Given the description of an element on the screen output the (x, y) to click on. 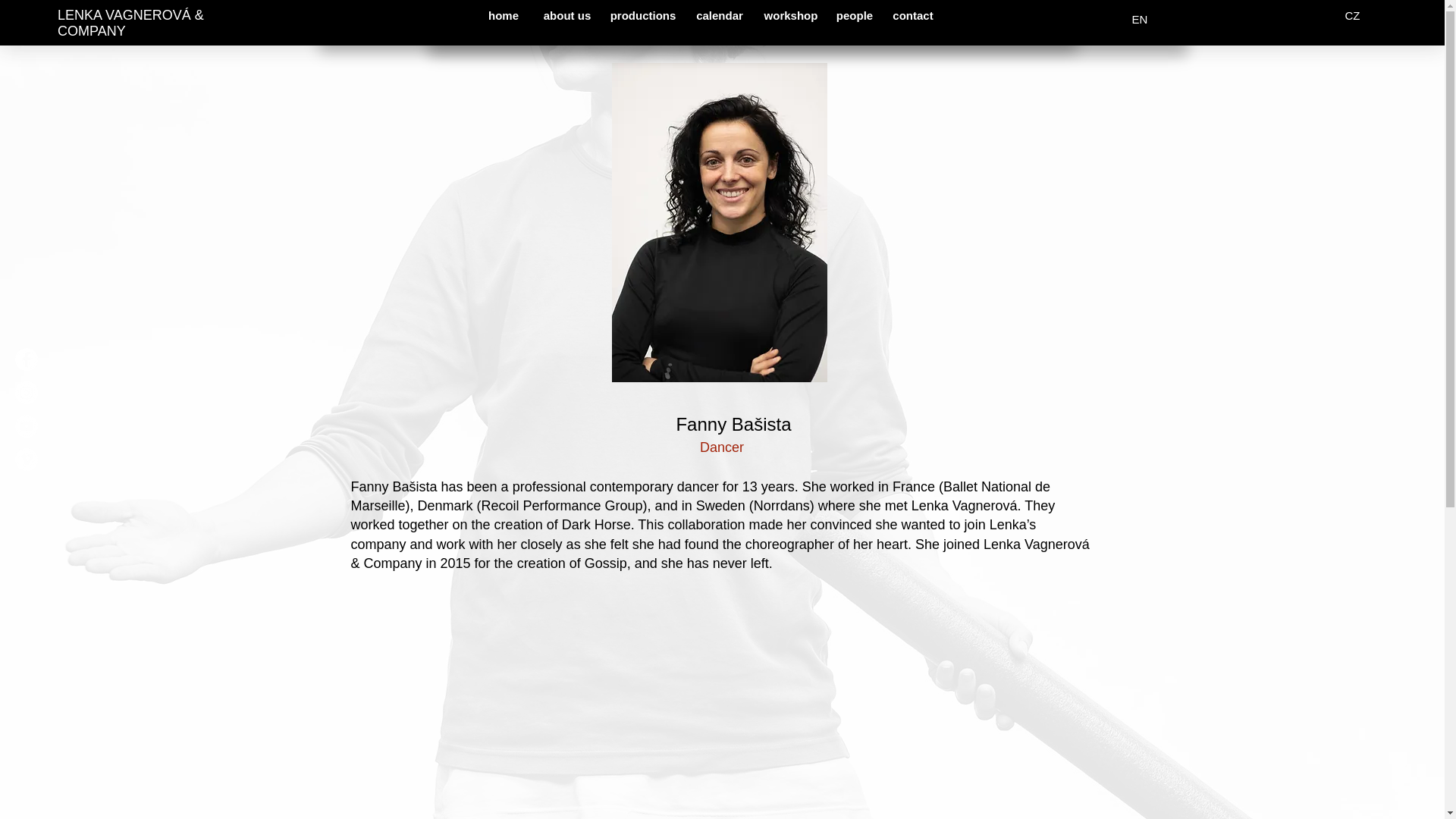
people (854, 15)
productions (642, 15)
kontakt (1038, 19)
home (503, 15)
calendar (719, 15)
inscenace (722, 19)
studio (976, 19)
about us (566, 15)
lekce (862, 19)
workshop (791, 15)
